Given the description of an element on the screen output the (x, y) to click on. 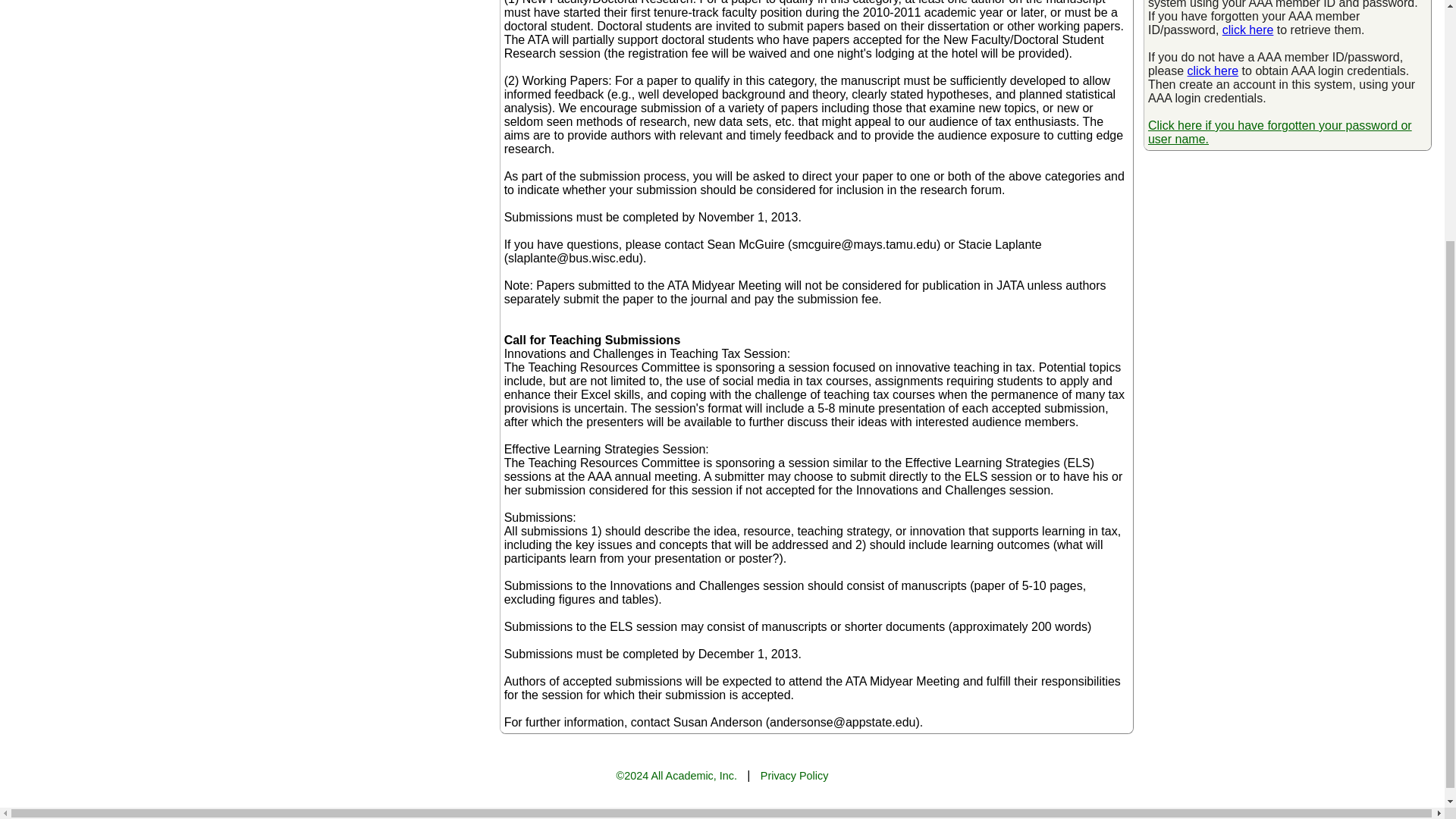
Click here if you have forgotten your password or user name. (1280, 131)
Privacy Policy (794, 775)
click here (1213, 70)
click here (1248, 29)
